Given the description of an element on the screen output the (x, y) to click on. 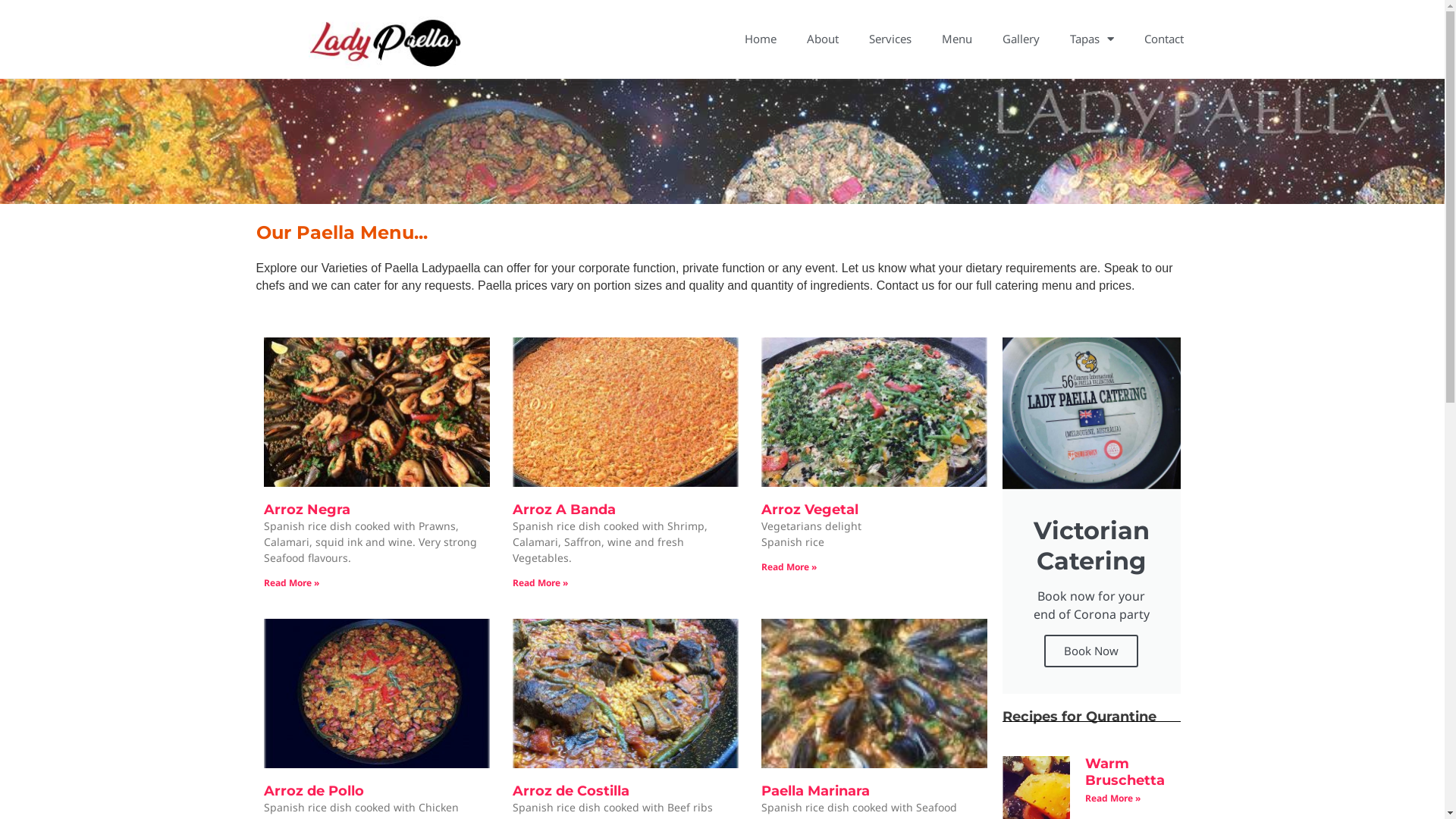
Arroz Negra Element type: text (306, 509)
Contact Element type: text (1163, 38)
Arroz Vegetal Element type: text (809, 509)
Menu Element type: text (956, 38)
Book Now Element type: text (1091, 650)
Arroz de Costilla Element type: text (570, 790)
Home Element type: text (760, 38)
Arroz A Banda Element type: text (563, 509)
Arroz de Pollo Element type: text (313, 790)
Warm Bruschetta Element type: text (1124, 771)
About Element type: text (822, 38)
Services Element type: text (889, 38)
Gallery Element type: text (1020, 38)
Tapas Element type: text (1091, 38)
Paella Marinara Element type: text (815, 790)
